Given the description of an element on the screen output the (x, y) to click on. 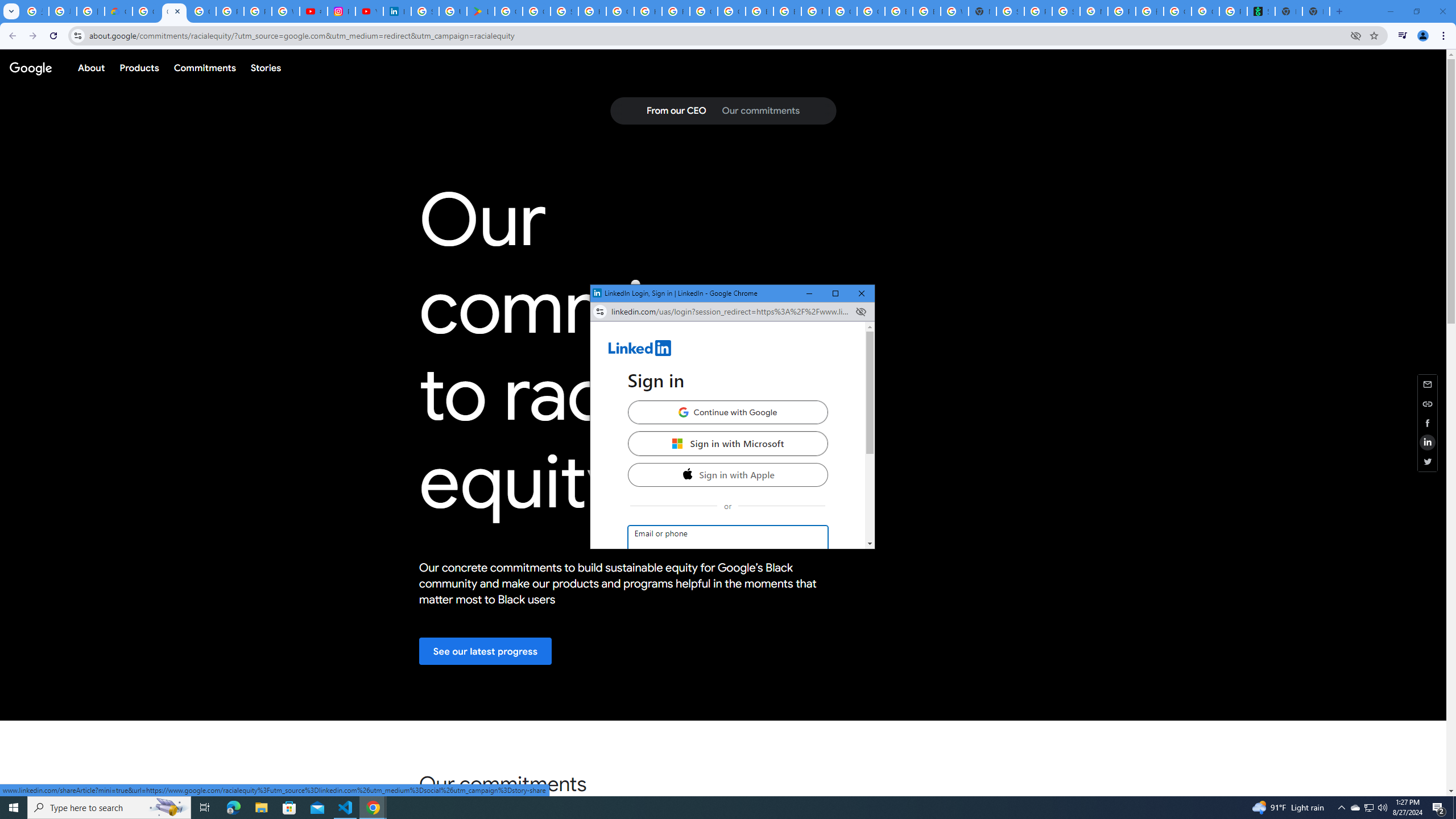
Type here to search (108, 807)
Visual Studio Code - 1 running window (345, 807)
Sign in with Microsoft (727, 443)
User Promoted Notification Area (1368, 807)
